Given the description of an element on the screen output the (x, y) to click on. 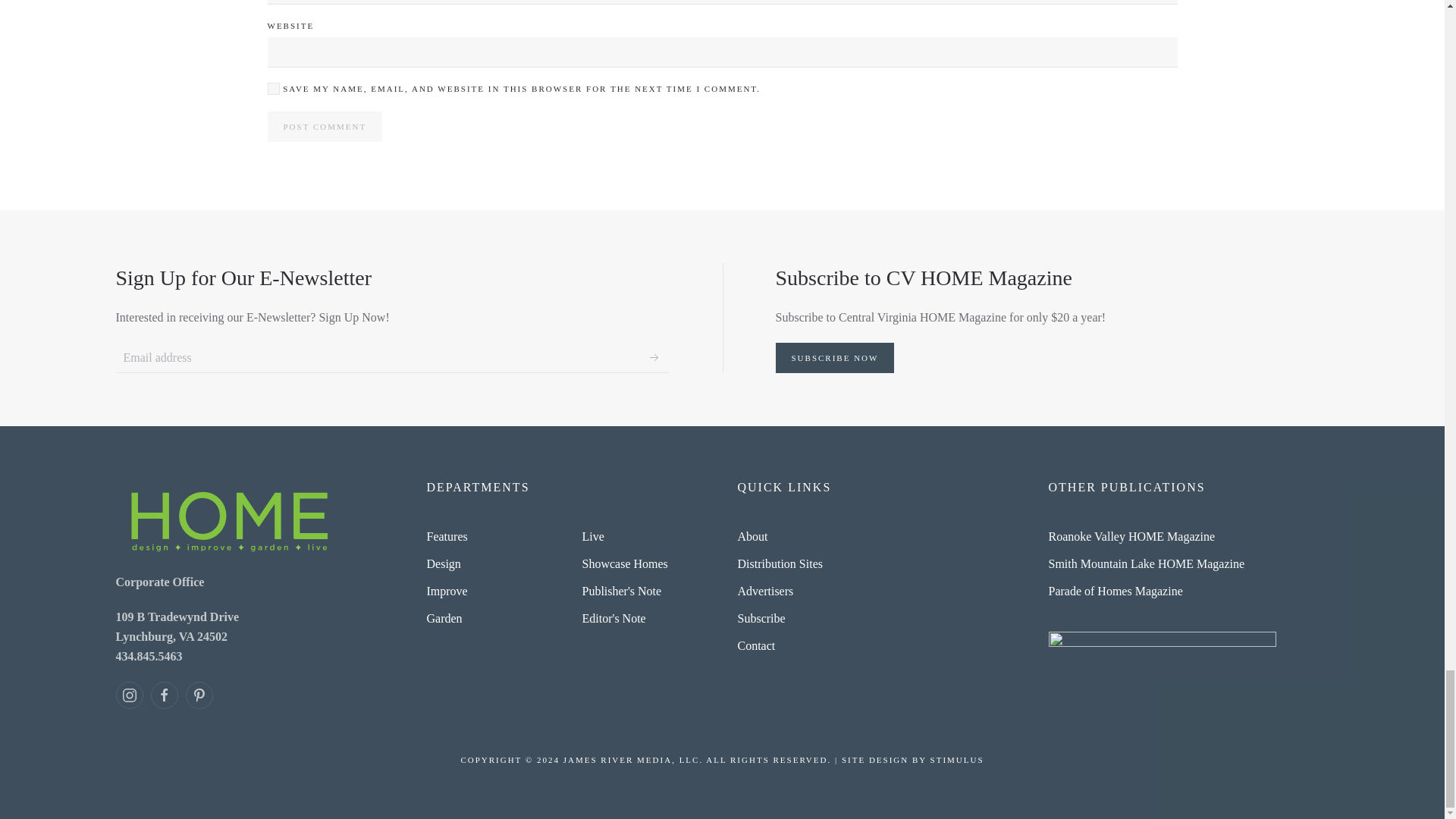
Subscribe (653, 358)
yes (272, 88)
